Given the description of an element on the screen output the (x, y) to click on. 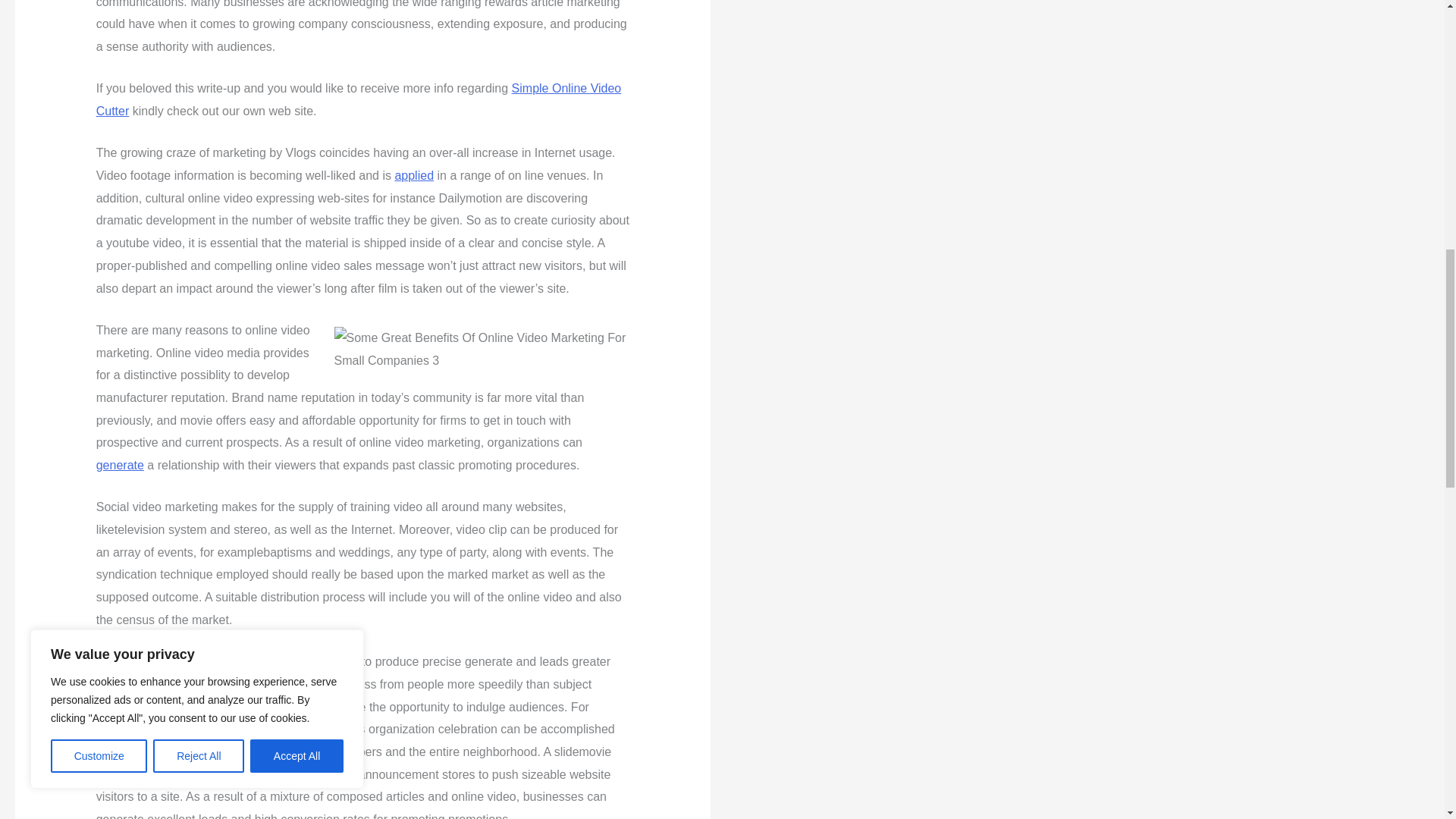
generate (120, 464)
applied (413, 174)
Simple Online Video Cutter (358, 99)
